Given the description of an element on the screen output the (x, y) to click on. 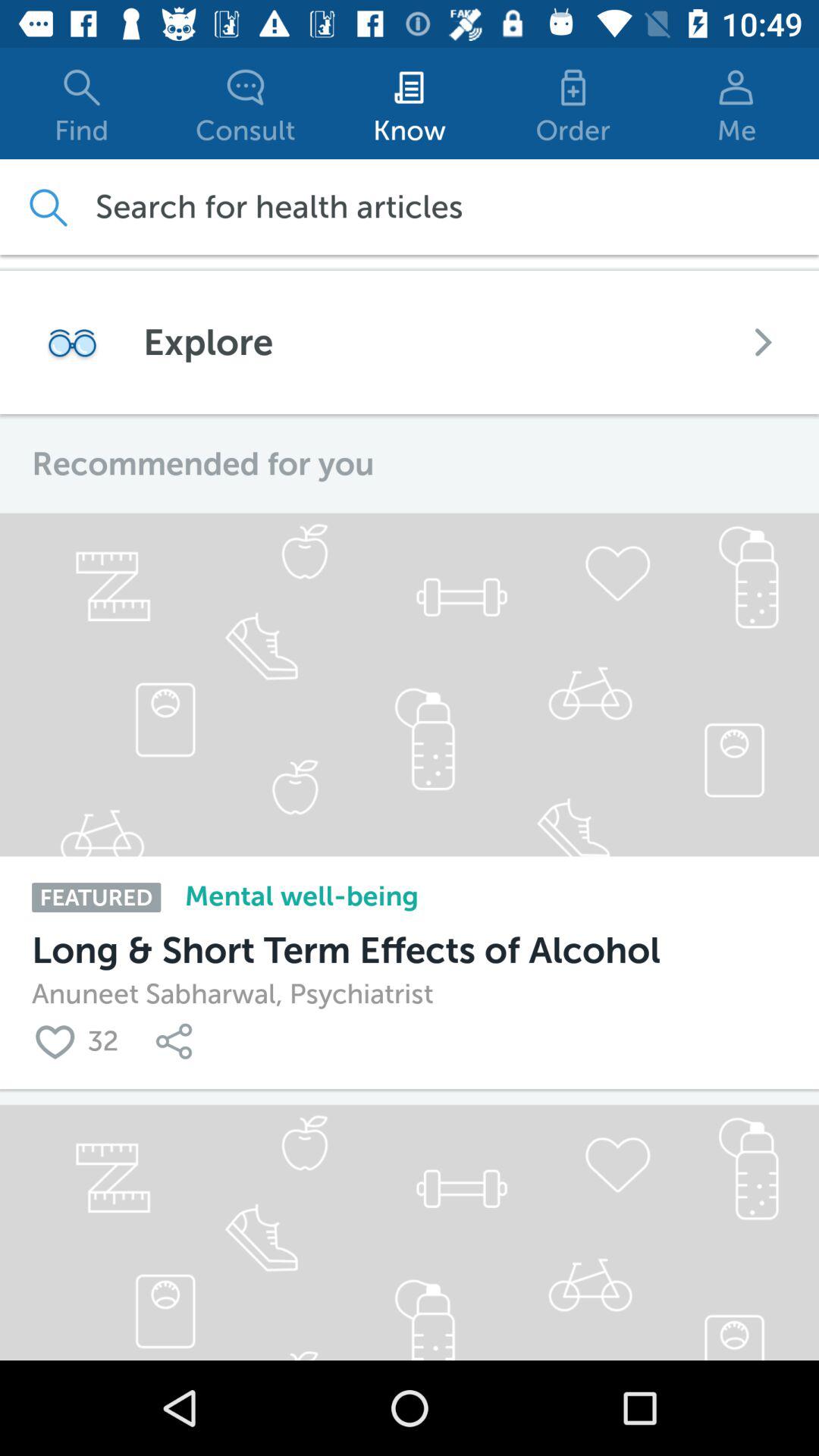
seach for health articles (47, 206)
